Given the description of an element on the screen output the (x, y) to click on. 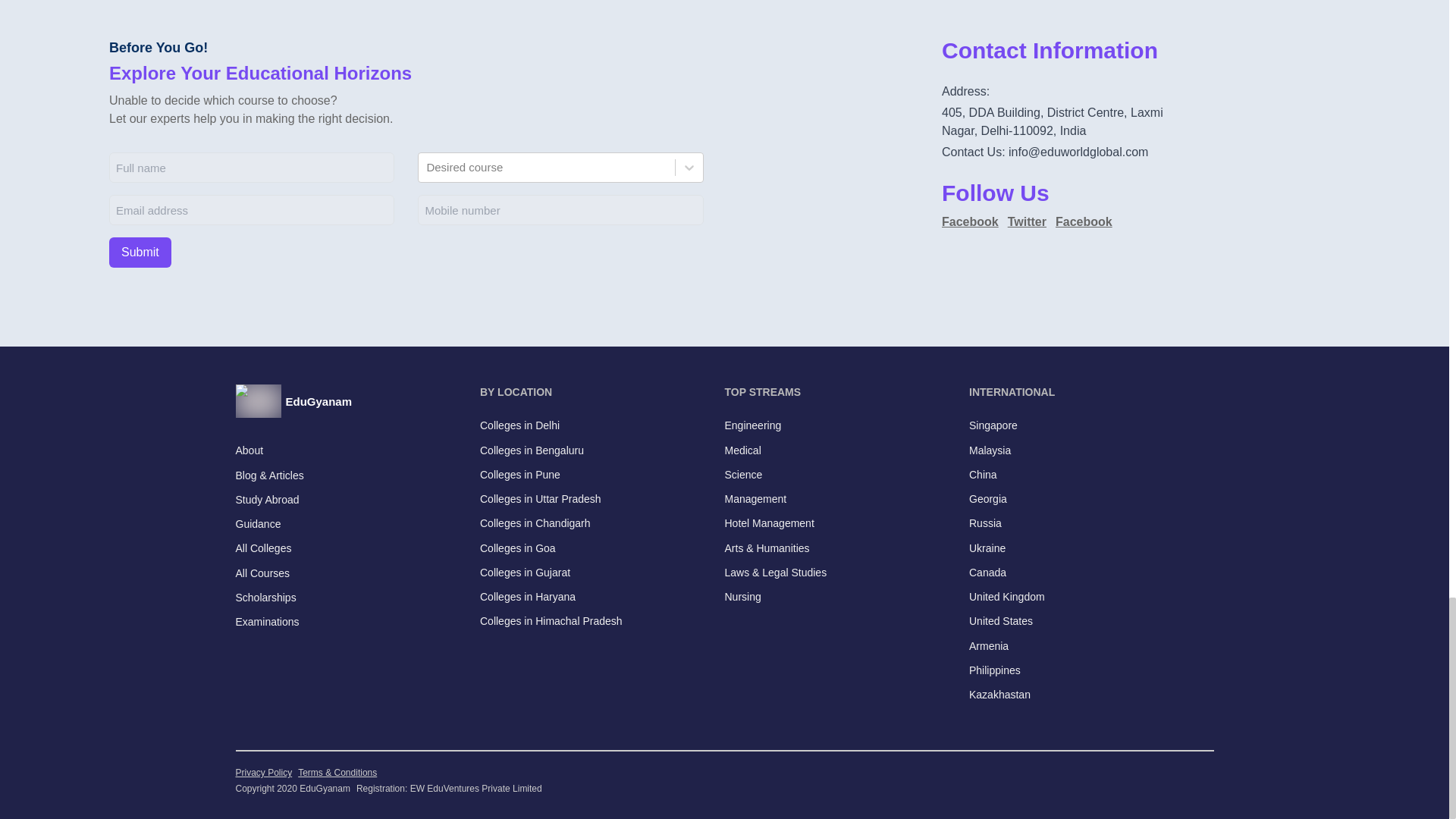
Colleges in Uttar Pradesh (540, 498)
EduGyanam (357, 400)
Colleges in Himachal Pradesh (551, 620)
Scholarships (264, 597)
Facebook (970, 221)
Twitter (1026, 221)
Facebook (1083, 221)
All Colleges (262, 547)
Colleges in Pune (520, 475)
Study Abroad (266, 499)
Examinations (266, 621)
Colleges in Goa (518, 547)
Submit (140, 252)
Guidance (257, 524)
Colleges in Gujarat (525, 572)
